Given the description of an element on the screen output the (x, y) to click on. 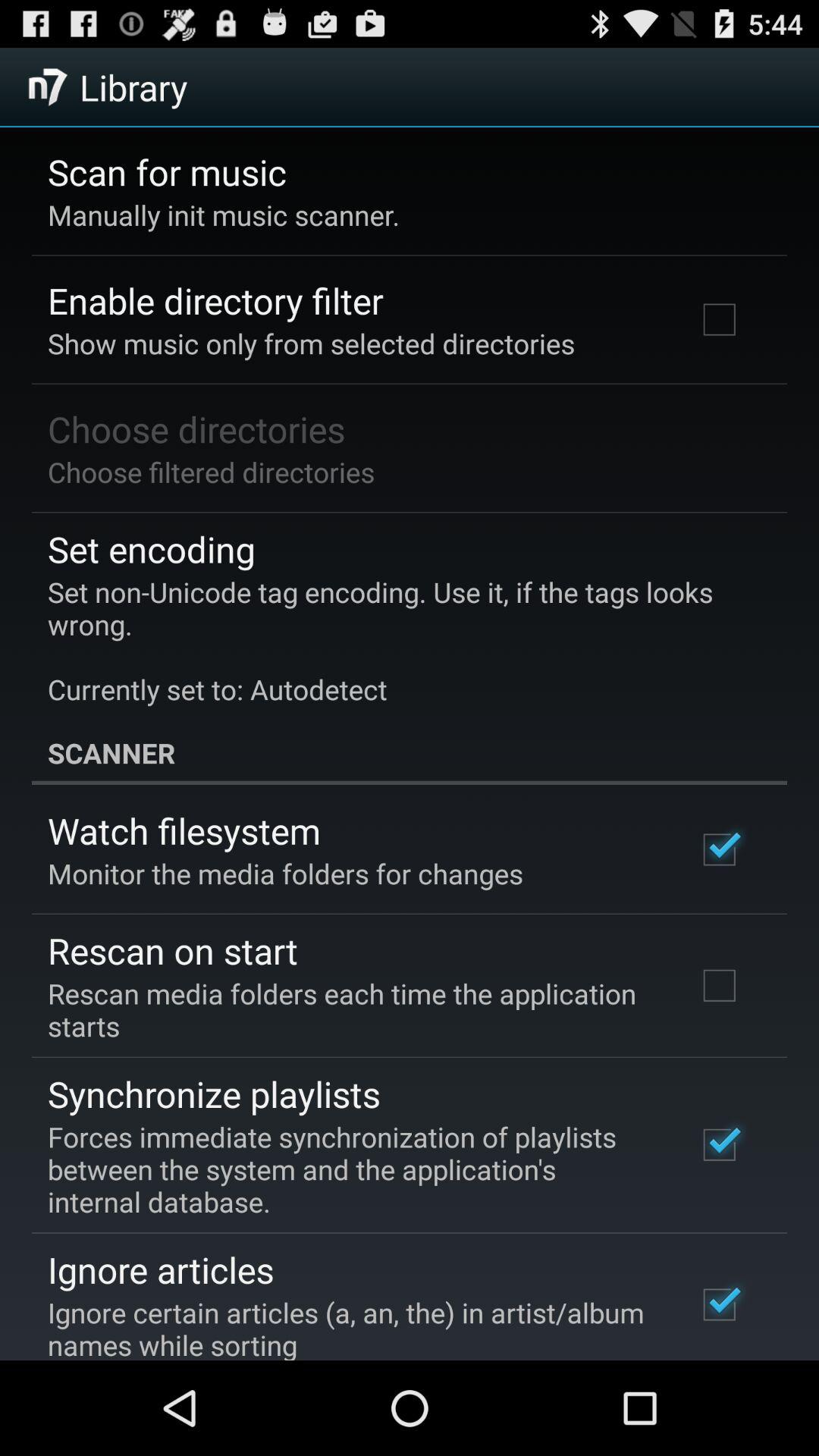
open show music only at the top (311, 343)
